Given the description of an element on the screen output the (x, y) to click on. 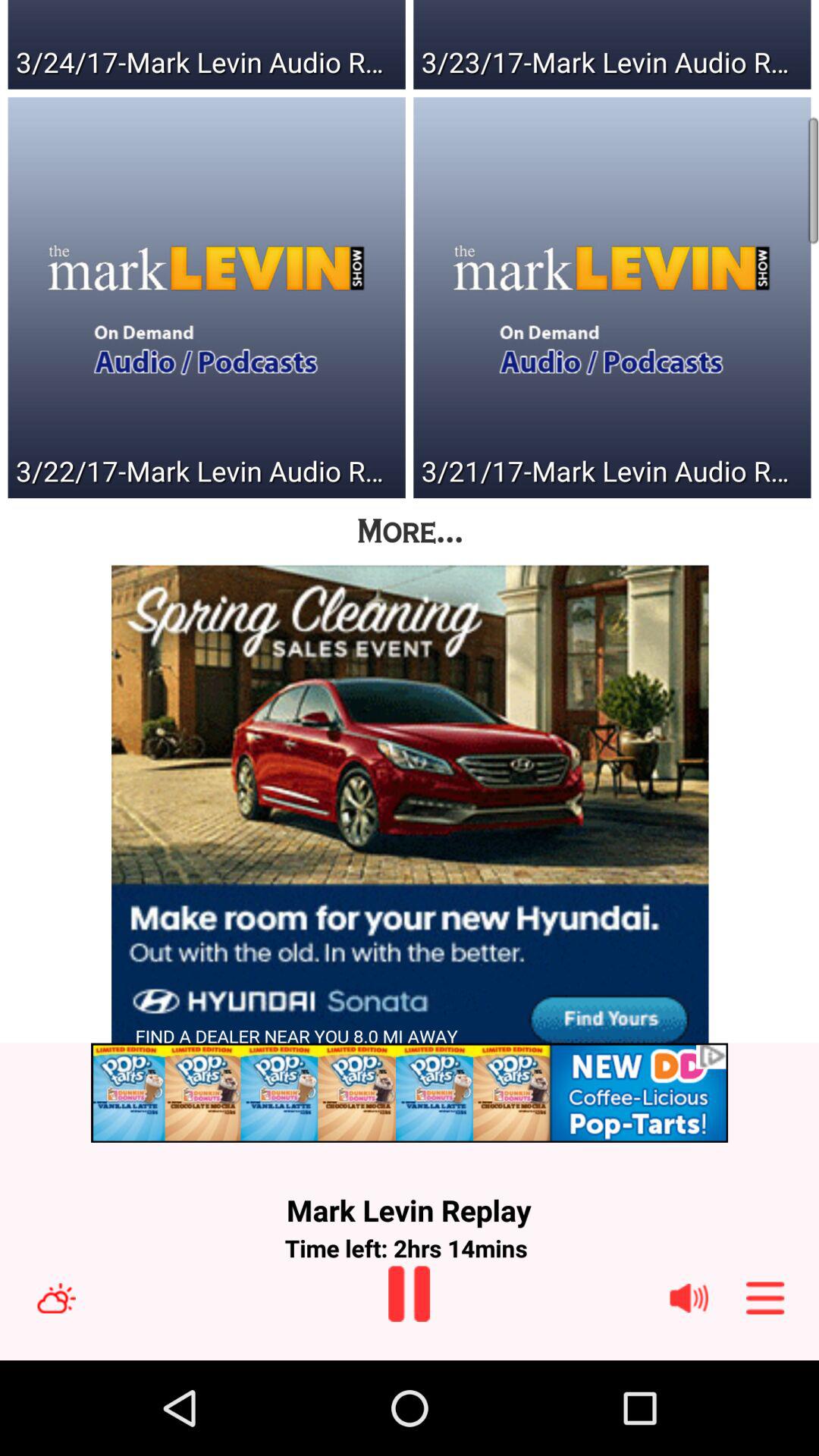
go to weather option (56, 1298)
